Given the description of an element on the screen output the (x, y) to click on. 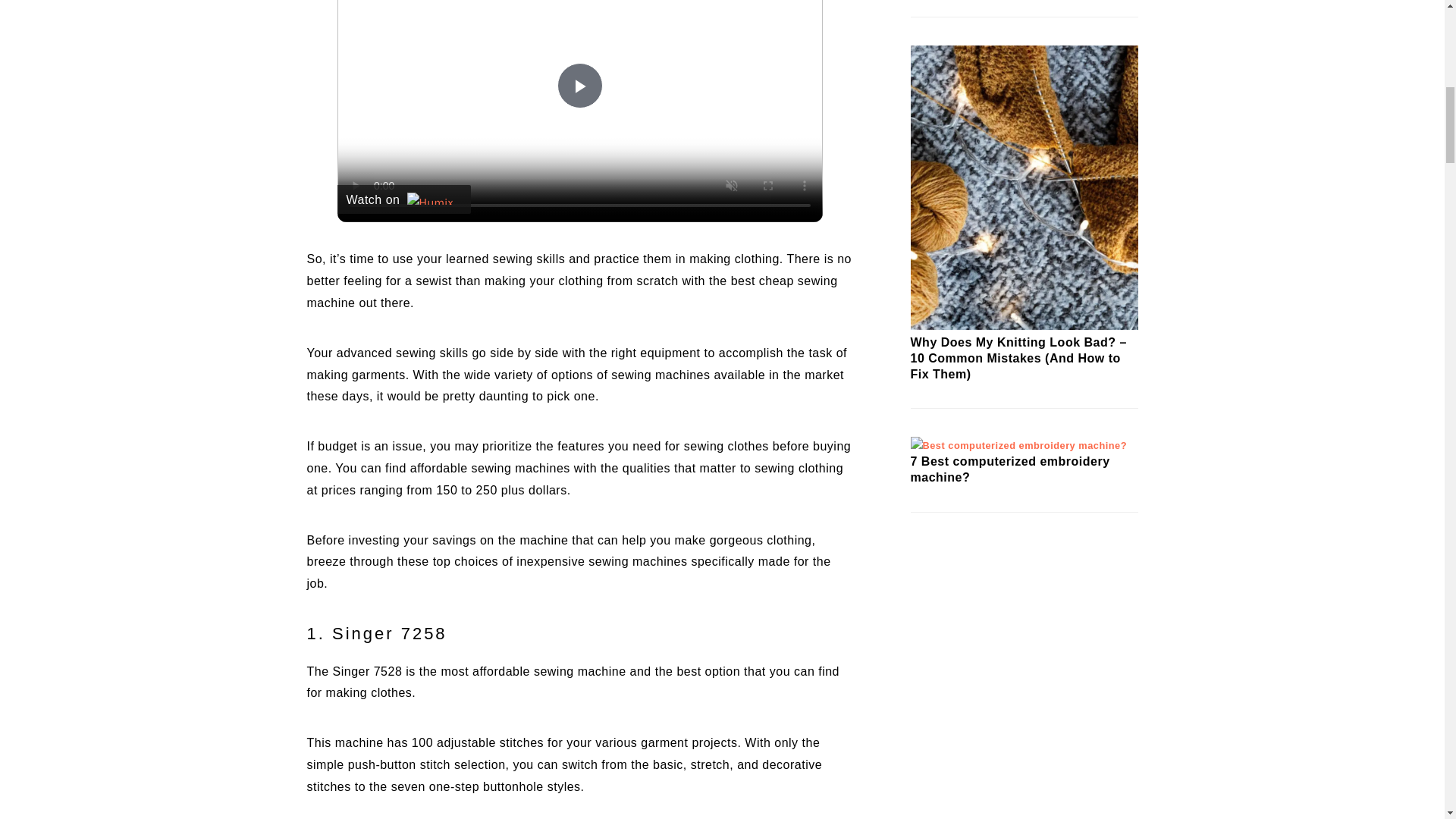
7 Best computerized embroidery machine? (1018, 445)
Play Video (579, 85)
Watch on (403, 199)
Play Video (579, 85)
